Given the description of an element on the screen output the (x, y) to click on. 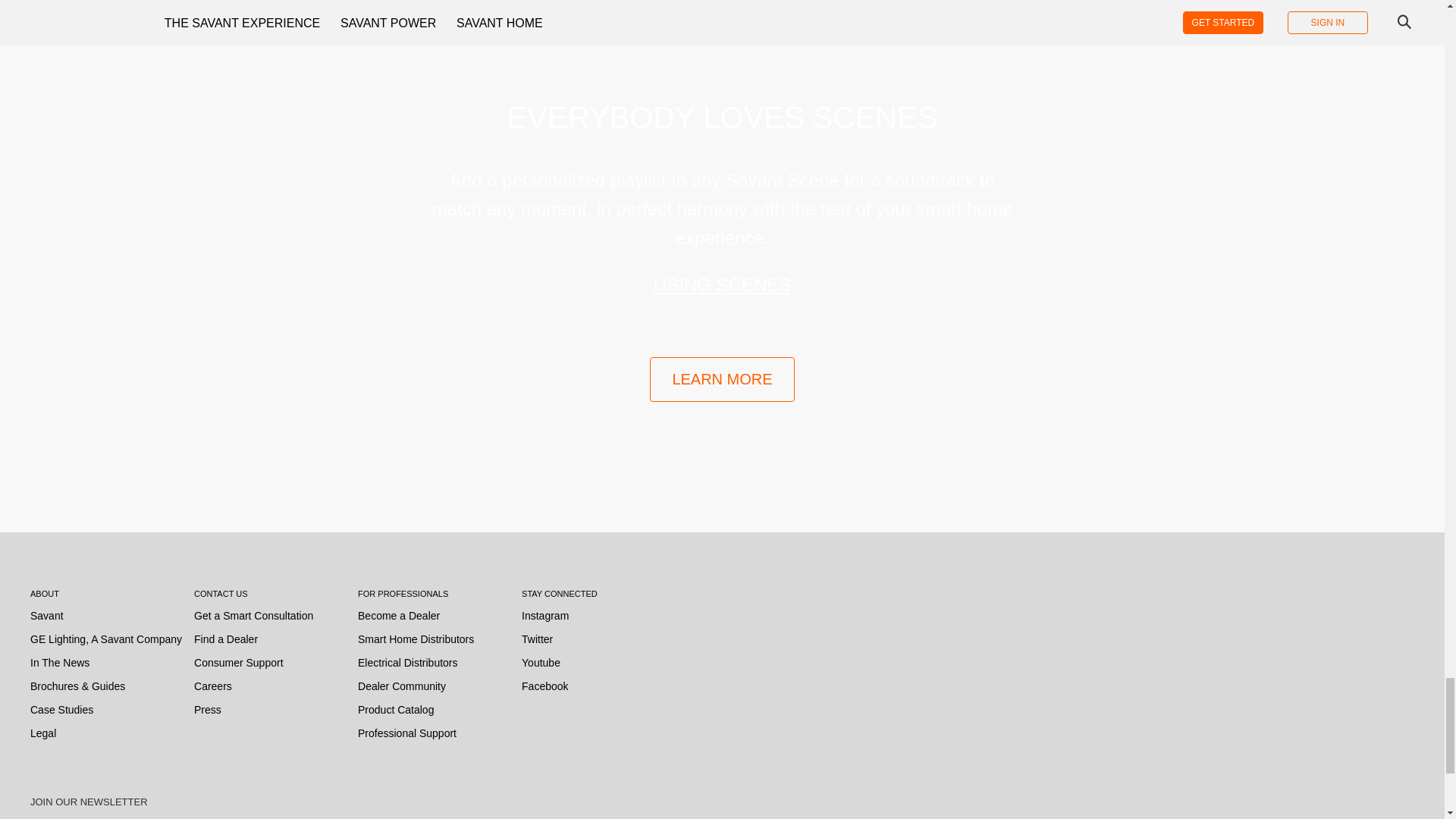
LEARN MORE (721, 379)
Legal (43, 732)
Smart Home Distributors (416, 638)
Electrical Distributors (407, 662)
Careers (212, 686)
Product Catalog (395, 710)
USING SCENES (721, 284)
Press (207, 710)
Consumer Support (238, 662)
Instagram (545, 615)
